Given the description of an element on the screen output the (x, y) to click on. 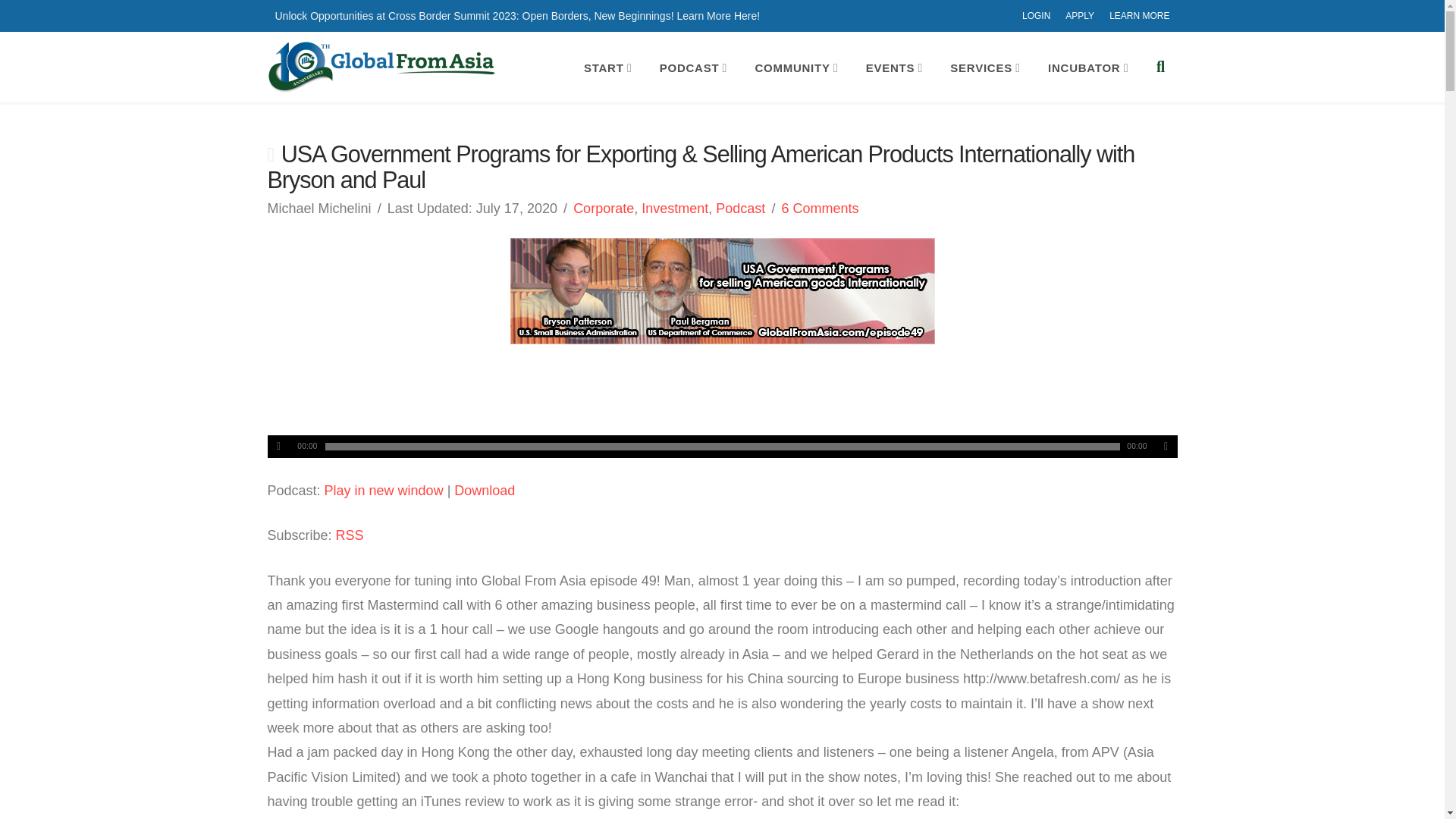
APPLY (1080, 15)
INCUBATOR (1088, 67)
Mute (1165, 445)
Subscribe via RSS (350, 534)
PODCAST (694, 67)
Play (277, 445)
Download (484, 490)
COMMUNITY (797, 67)
START (609, 67)
Play in new window (384, 490)
SERVICES (986, 67)
LOGIN (1036, 15)
EVENTS (896, 67)
LEARN MORE (1139, 15)
